Given the description of an element on the screen output the (x, y) to click on. 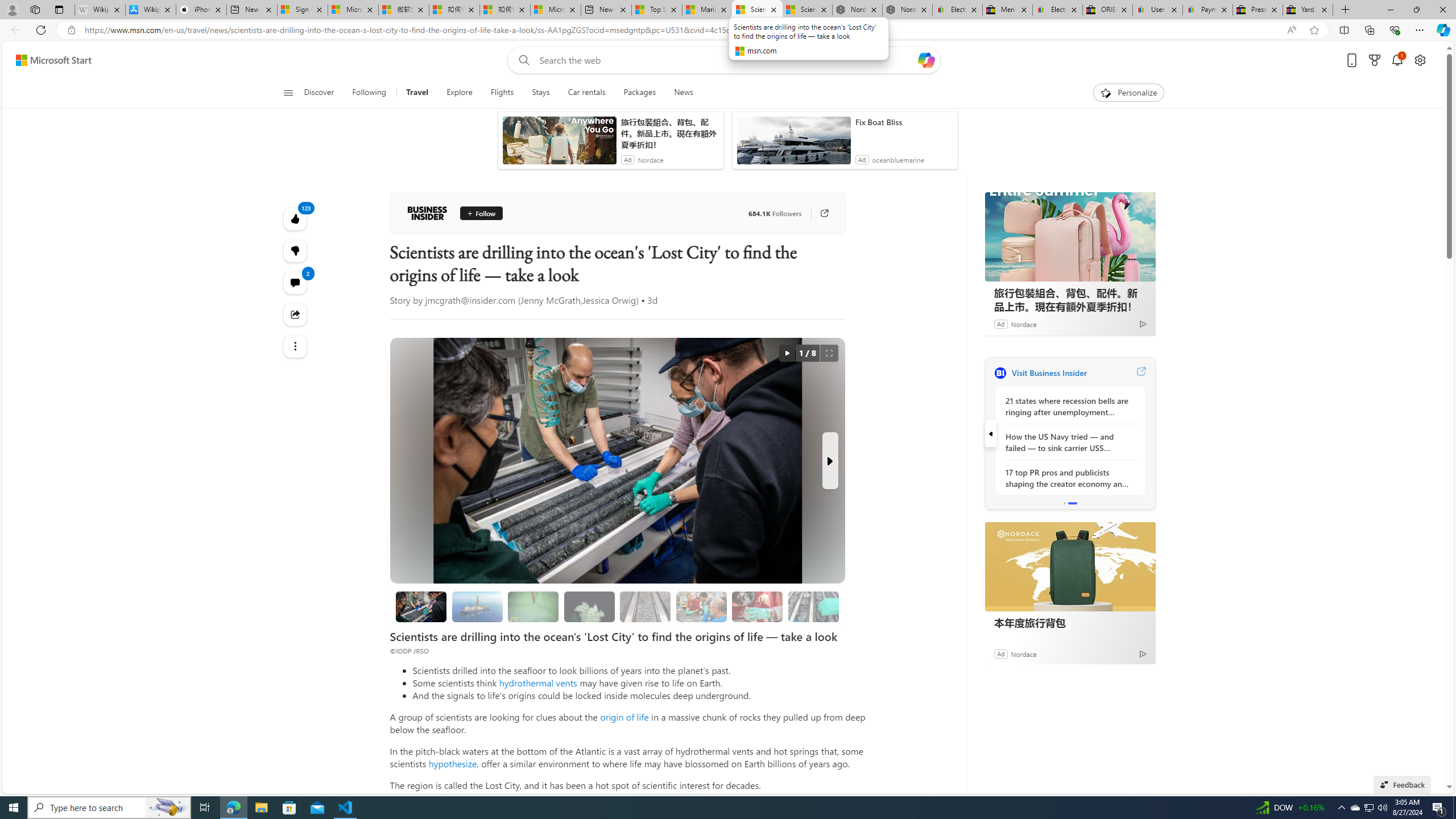
autorotate button (786, 352)
Packages (639, 92)
Stays (540, 92)
iPhone - Apple (201, 9)
Microsoft account | Account Checkup (555, 9)
